Given the description of an element on the screen output the (x, y) to click on. 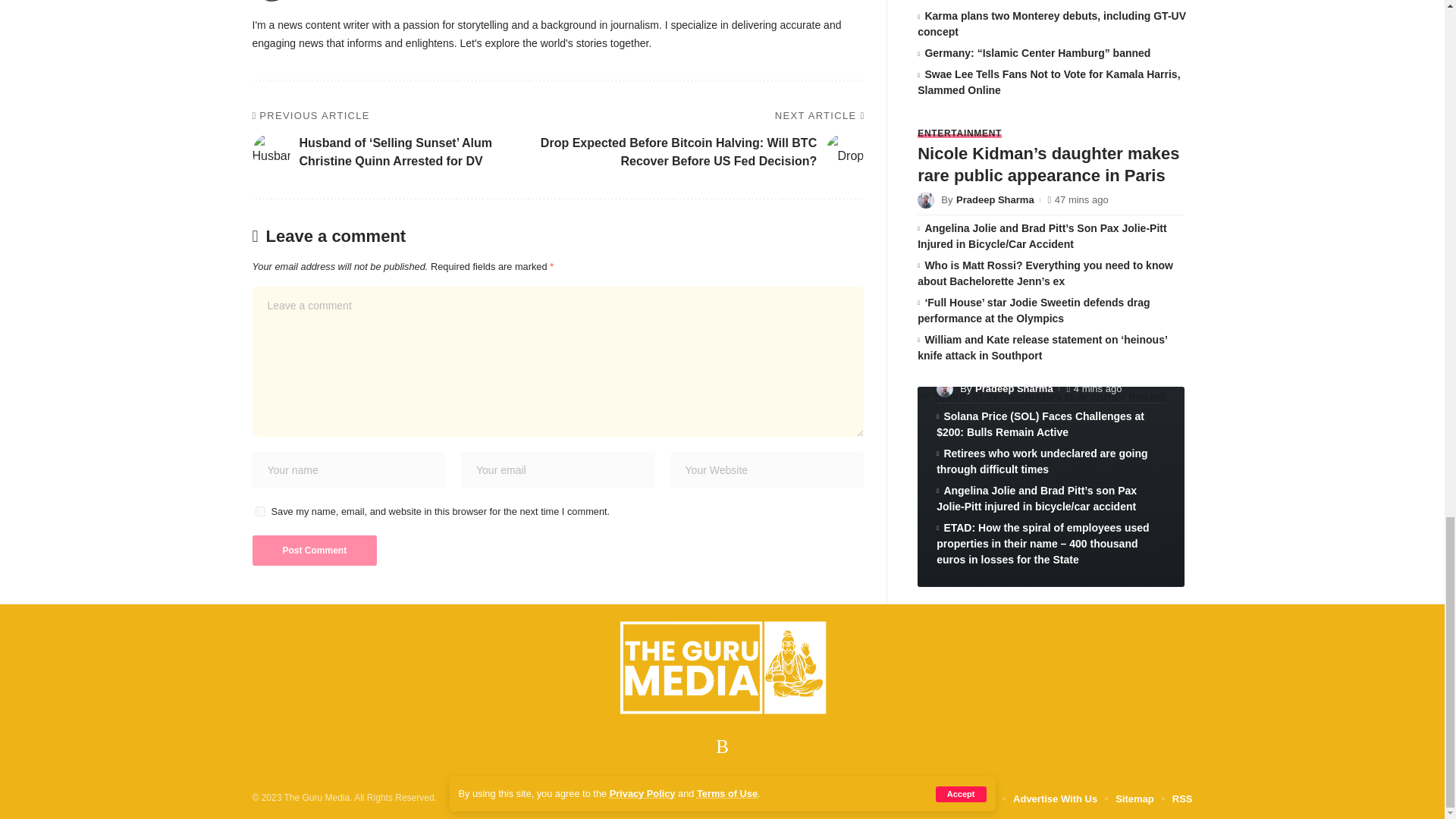
yes (259, 511)
Post Comment (314, 550)
